Given the description of an element on the screen output the (x, y) to click on. 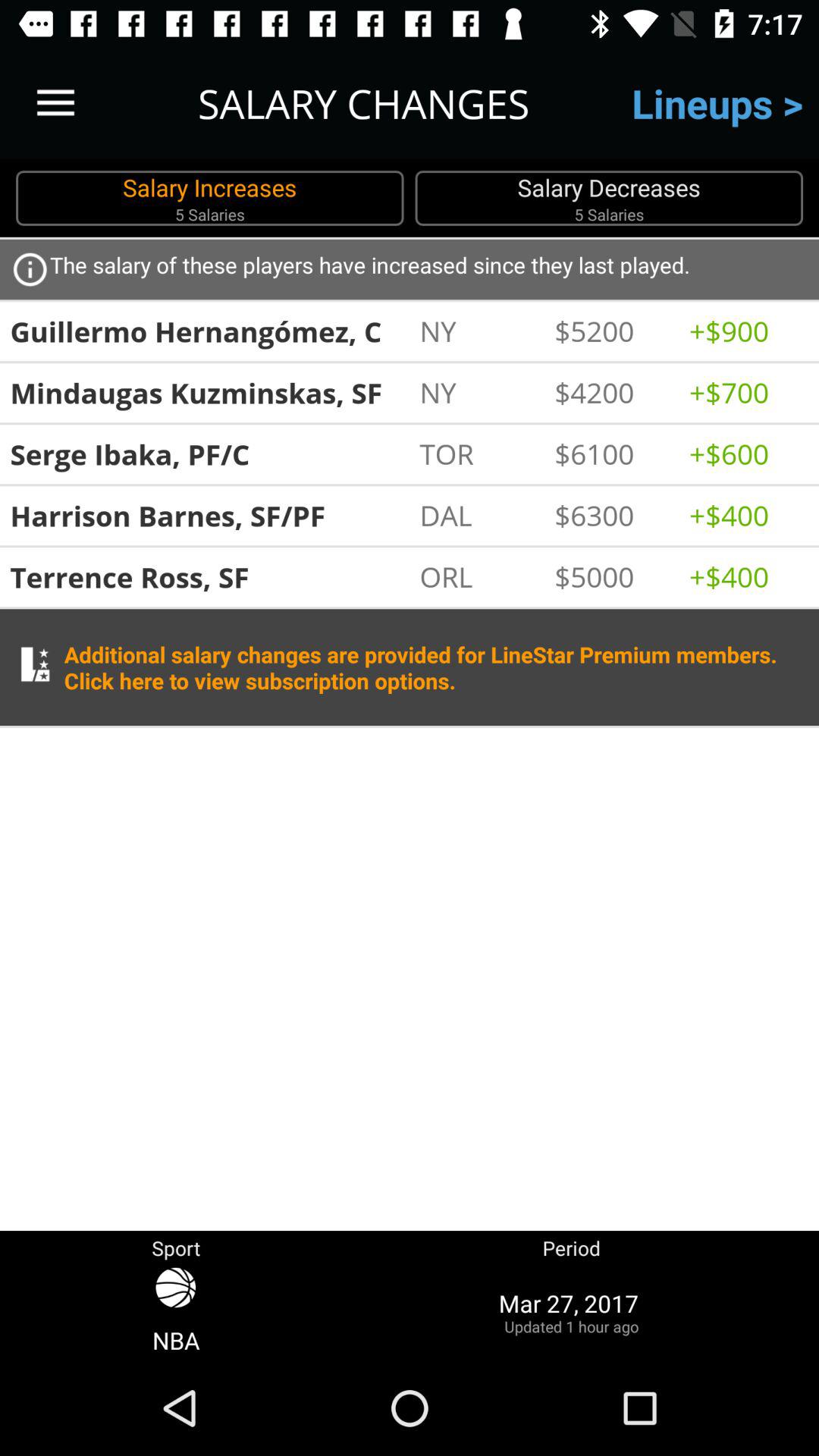
turn on icon next to orl icon (613, 576)
